Given the description of an element on the screen output the (x, y) to click on. 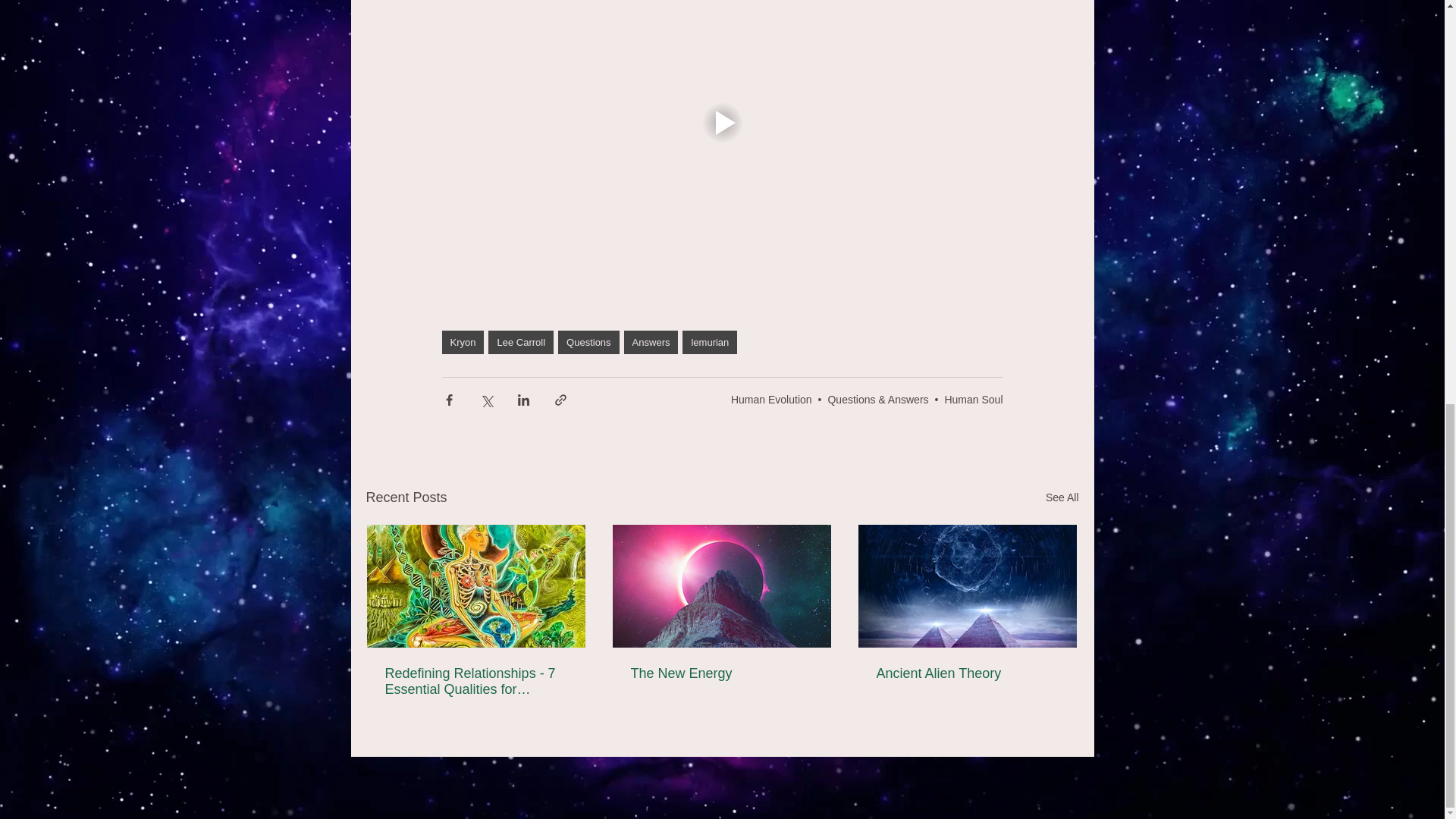
Answers (651, 341)
Ancient Alien Theory (967, 673)
Human Soul (973, 399)
lemurian (709, 341)
Questions (588, 341)
Kryon (462, 341)
The New Energy (721, 673)
Human Evolution (771, 399)
See All (1061, 497)
